Given the description of an element on the screen output the (x, y) to click on. 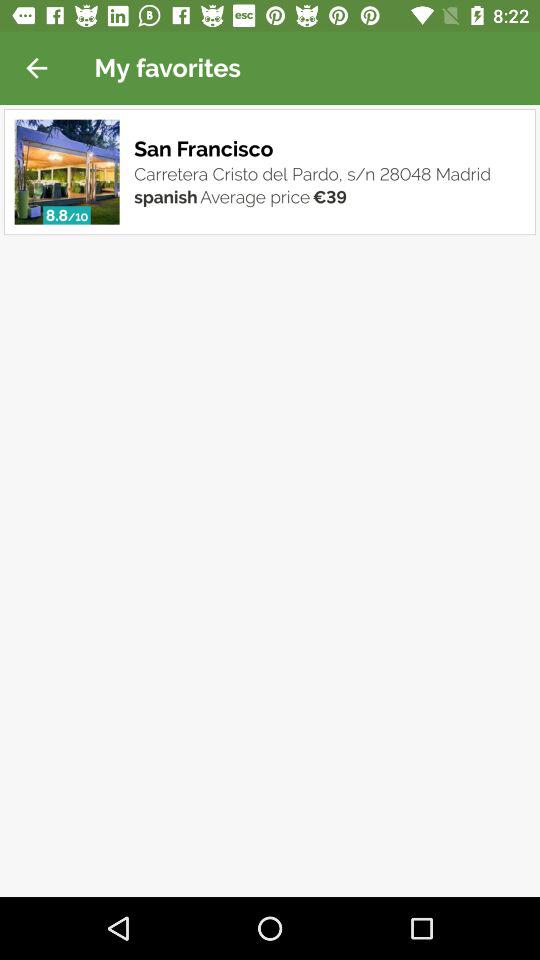
turn off the item above the carretera cristo del (206, 148)
